Given the description of an element on the screen output the (x, y) to click on. 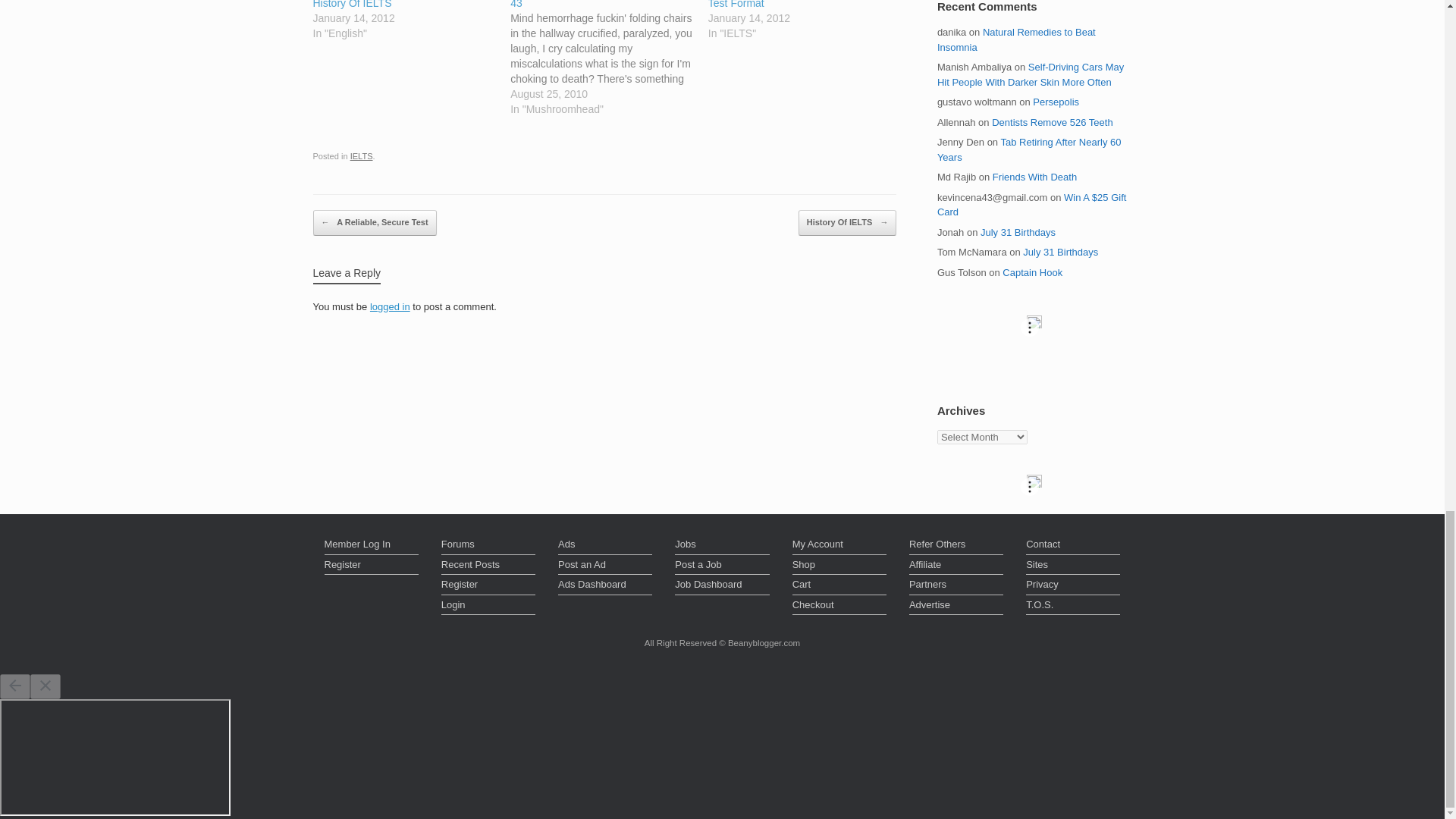
History Of IELTS (412, 20)
History Of IELTS (352, 4)
43 (516, 4)
43 (609, 58)
